Given the description of an element on the screen output the (x, y) to click on. 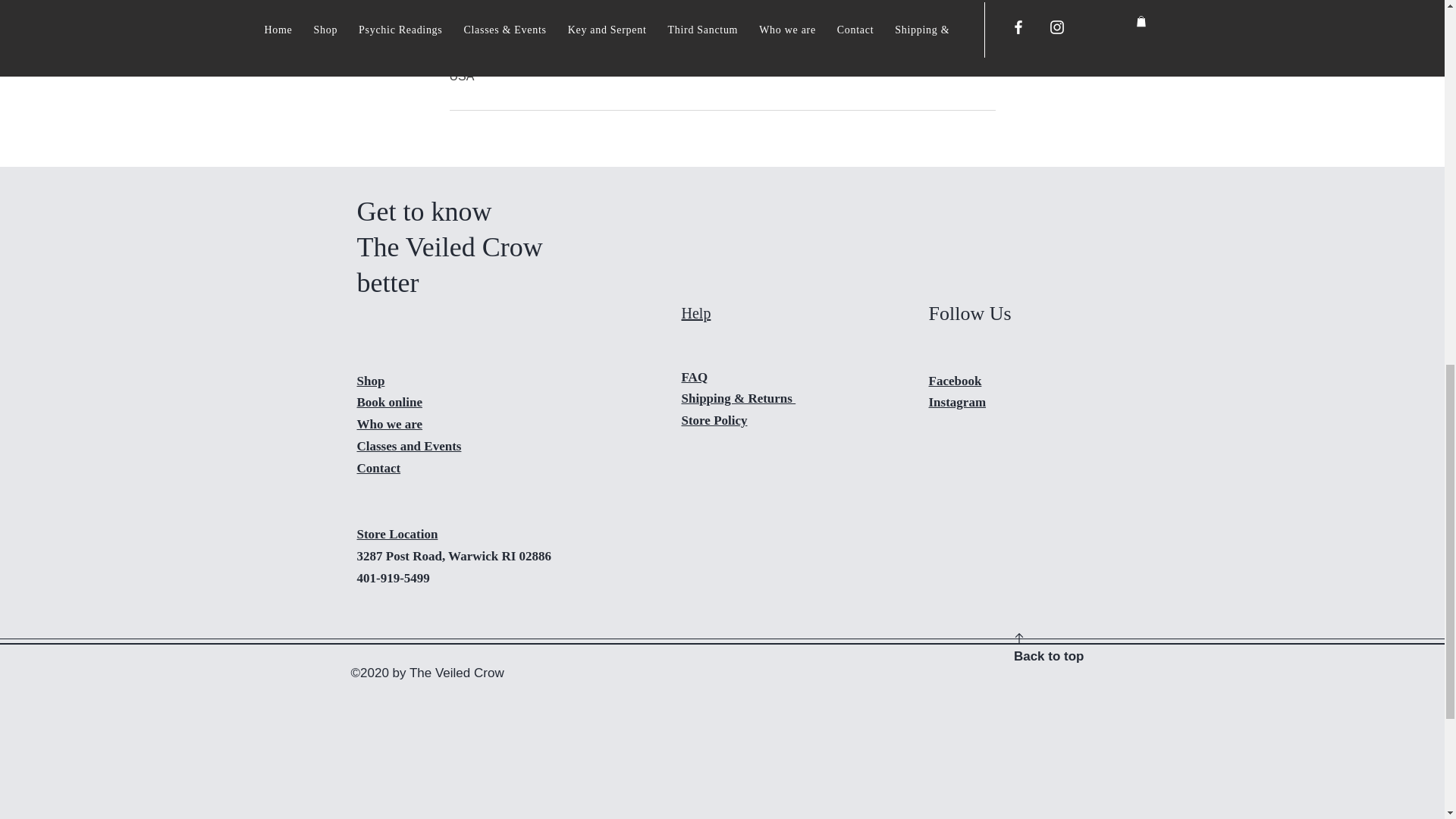
Shop (370, 380)
Back to top (1048, 656)
Who we are (389, 423)
Instagram (956, 401)
Contact (378, 468)
Book online (389, 401)
Help (695, 312)
FAQ (694, 377)
Store Policy (713, 420)
Facebook (954, 380)
